Given the description of an element on the screen output the (x, y) to click on. 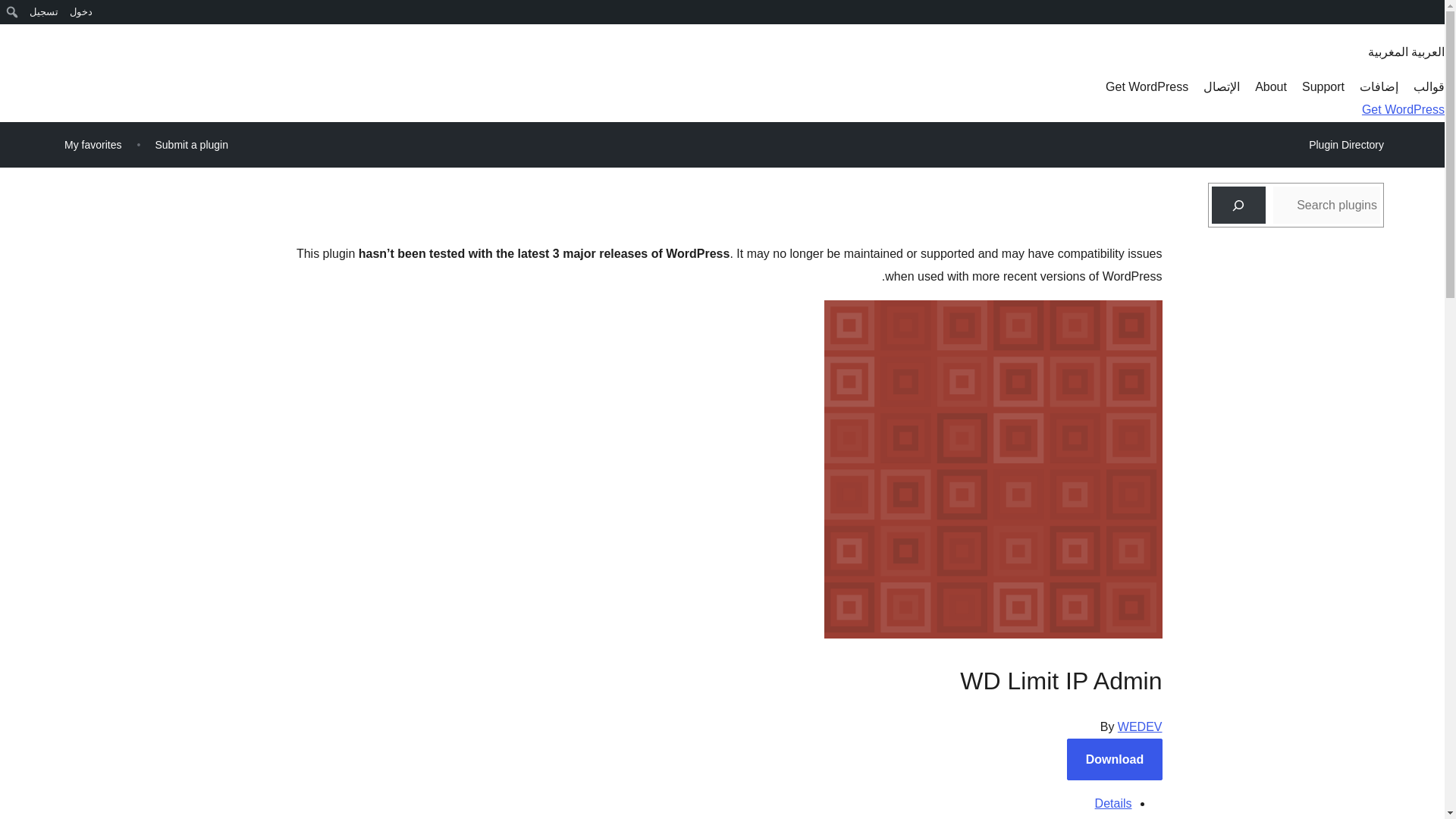
Submit a plugin (191, 144)
Get WordPress (1146, 87)
Details (1113, 802)
WEDEV (1139, 726)
My favorites (93, 144)
Plugin Directory (1345, 144)
Support (1322, 87)
About (1271, 87)
Download (1114, 759)
